Given the description of an element on the screen output the (x, y) to click on. 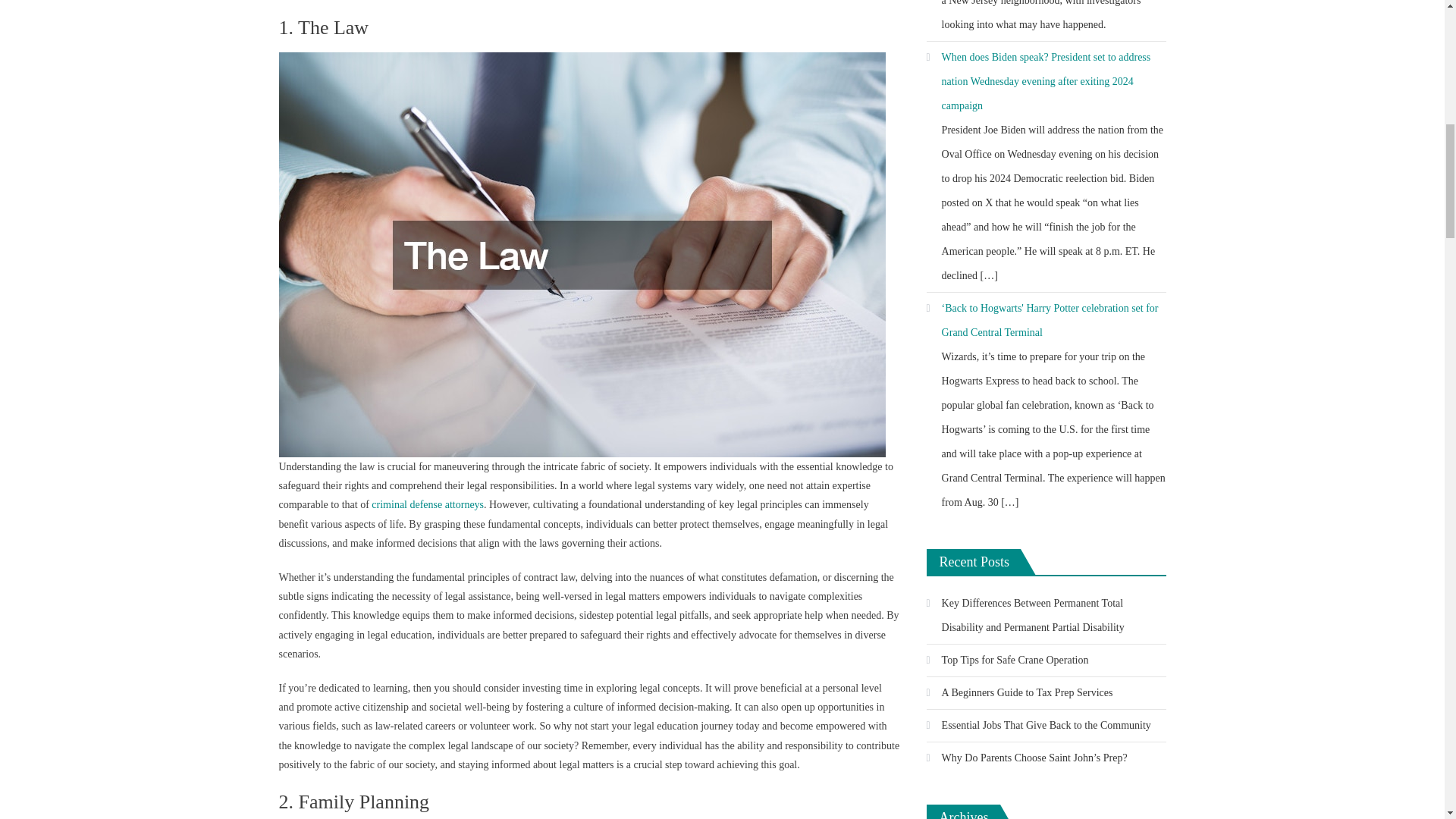
criminal defense attorneys (427, 504)
